Given the description of an element on the screen output the (x, y) to click on. 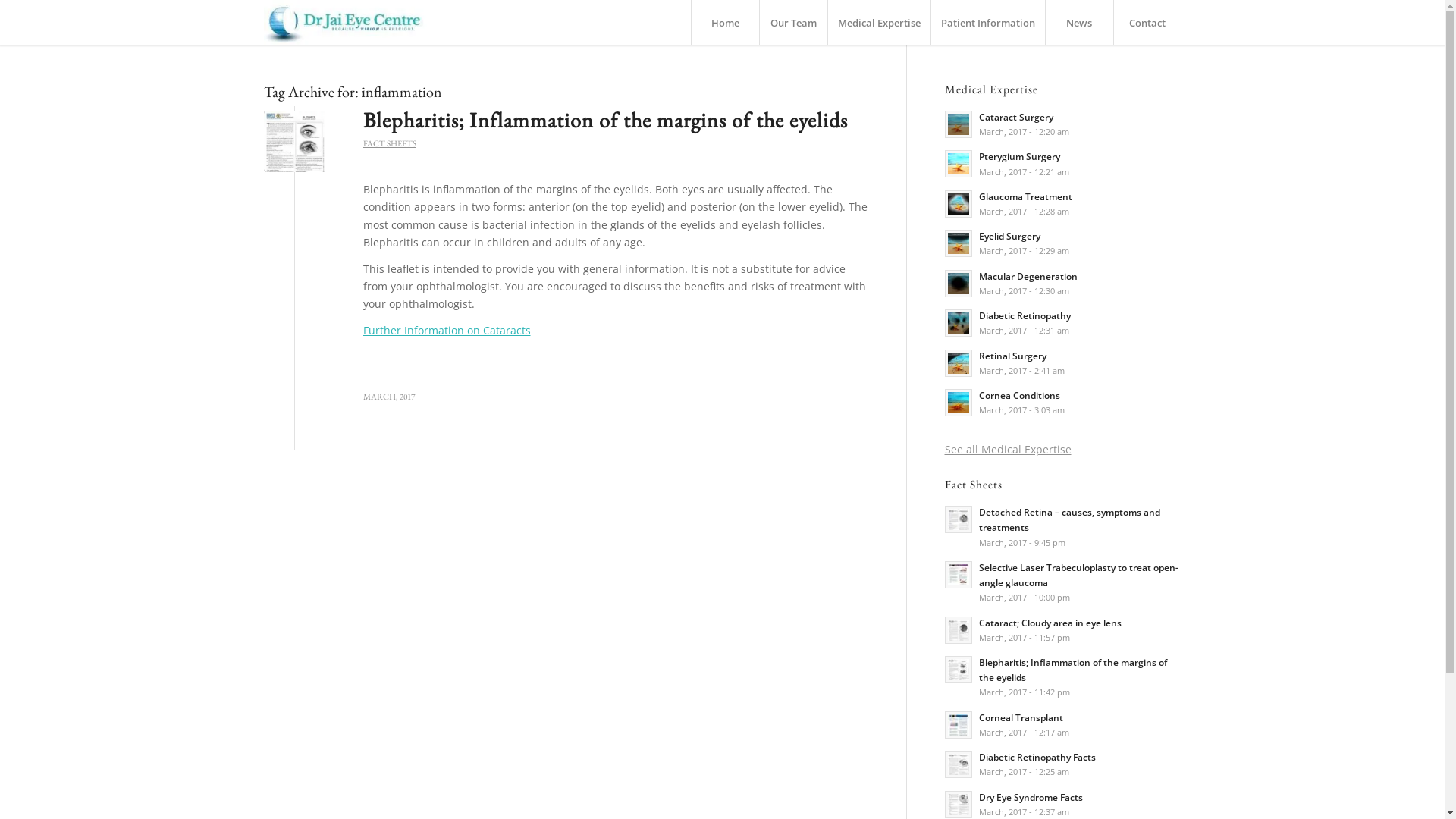
FACT SHEETS Element type: text (388, 143)
Retinal Surgery
March, 2017 - 2:41 am Element type: text (1062, 362)
Glaucoma Treatment
March, 2017 - 12:28 am Element type: text (1062, 203)
Our Team Element type: text (792, 22)
Cataract Surgery
March, 2017 - 12:20 am Element type: text (1062, 123)
Cataract; Cloudy area in eye lens
March, 2017 - 11:57 pm Element type: text (1062, 629)
News Element type: text (1078, 22)
Home Element type: text (724, 22)
Medical Expertise Element type: text (877, 22)
Diabetic Retinopathy
March, 2017 - 12:31 am Element type: text (1062, 322)
Contact Element type: text (1147, 22)
Macular Degeneration
March, 2017 - 12:30 am Element type: text (1062, 282)
Blepharitis Element type: hover (294, 141)
Patient Information Element type: text (986, 22)
See all Medical Expertise Element type: text (1007, 449)
Diabetic Retinopathy Facts
March, 2017 - 12:25 am Element type: text (1062, 763)
Corneal Transplant
March, 2017 - 12:17 am Element type: text (1062, 724)
Eyelid Surgery
March, 2017 - 12:29 am Element type: text (1062, 242)
Pterygium Surgery
March, 2017 - 12:21 am Element type: text (1062, 162)
Cornea Conditions
March, 2017 - 3:03 am Element type: text (1062, 401)
Blepharitis; Inflammation of the margins of the eyelids Element type: text (604, 119)
Further Information on Cataracts Element type: text (446, 330)
